Given the description of an element on the screen output the (x, y) to click on. 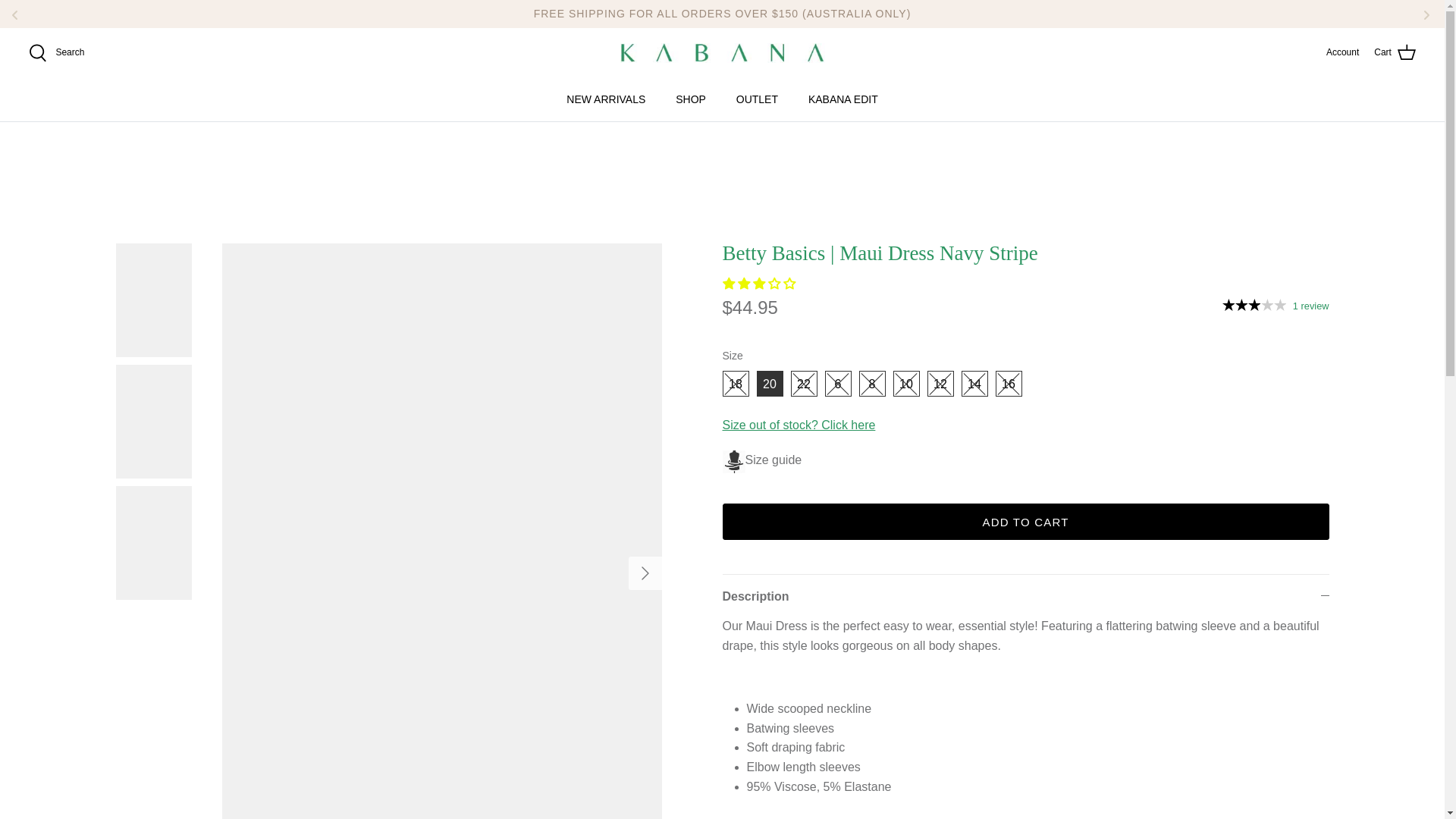
Search (56, 53)
NEW ARRIVALS (606, 99)
Account (1342, 52)
SHOP (690, 99)
Cart (1394, 53)
OUTLET (757, 99)
Kabana Shop (722, 53)
RIGHT (643, 573)
